Given the description of an element on the screen output the (x, y) to click on. 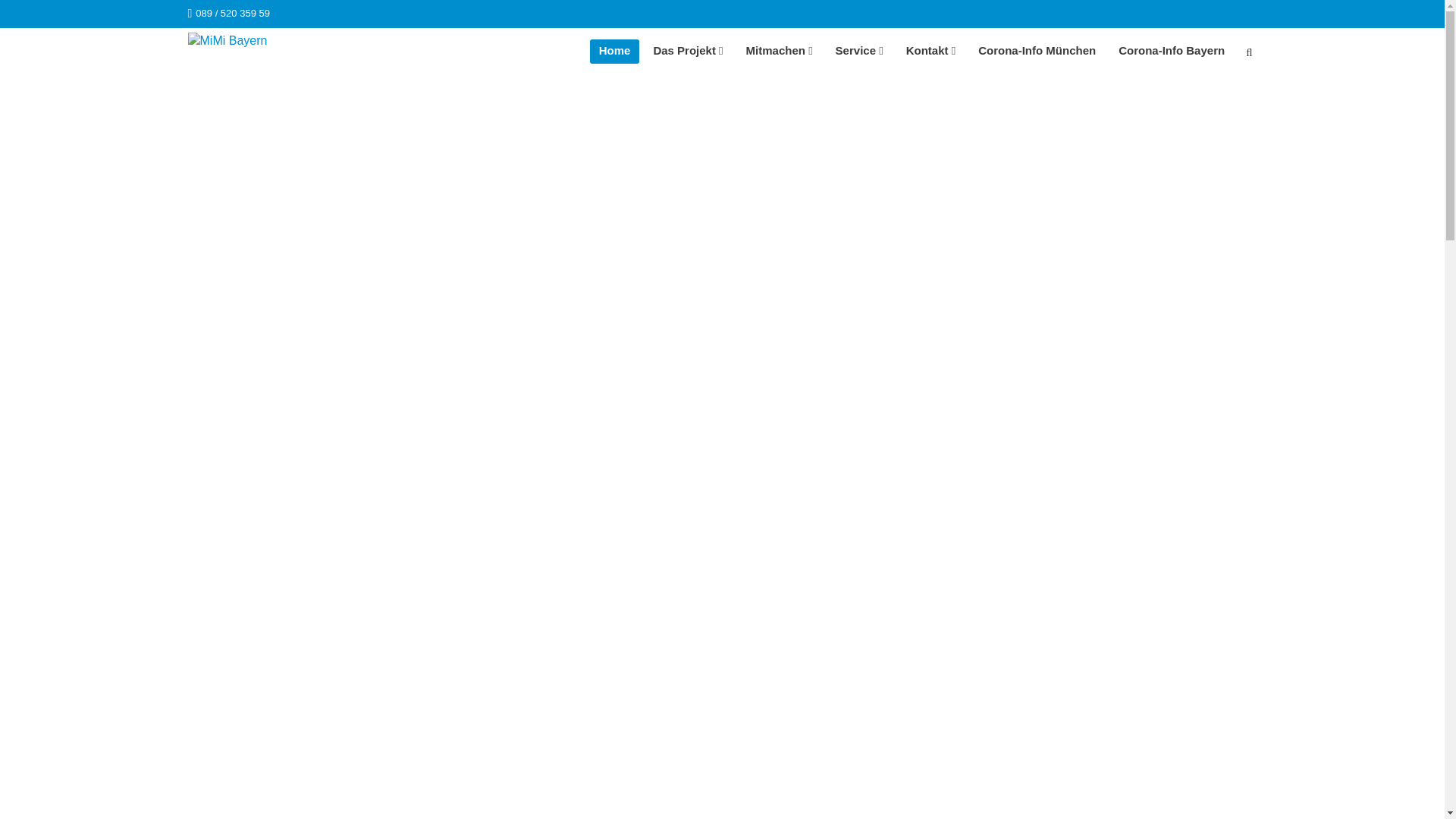
Service Element type: text (859, 51)
Corona-Info Bayern Element type: text (1171, 51)
Das Projekt Element type: text (687, 51)
Mitmachen Element type: text (779, 51)
Home Element type: text (614, 51)
Search Element type: text (1248, 53)
Kontakt Element type: text (931, 51)
